Given the description of an element on the screen output the (x, y) to click on. 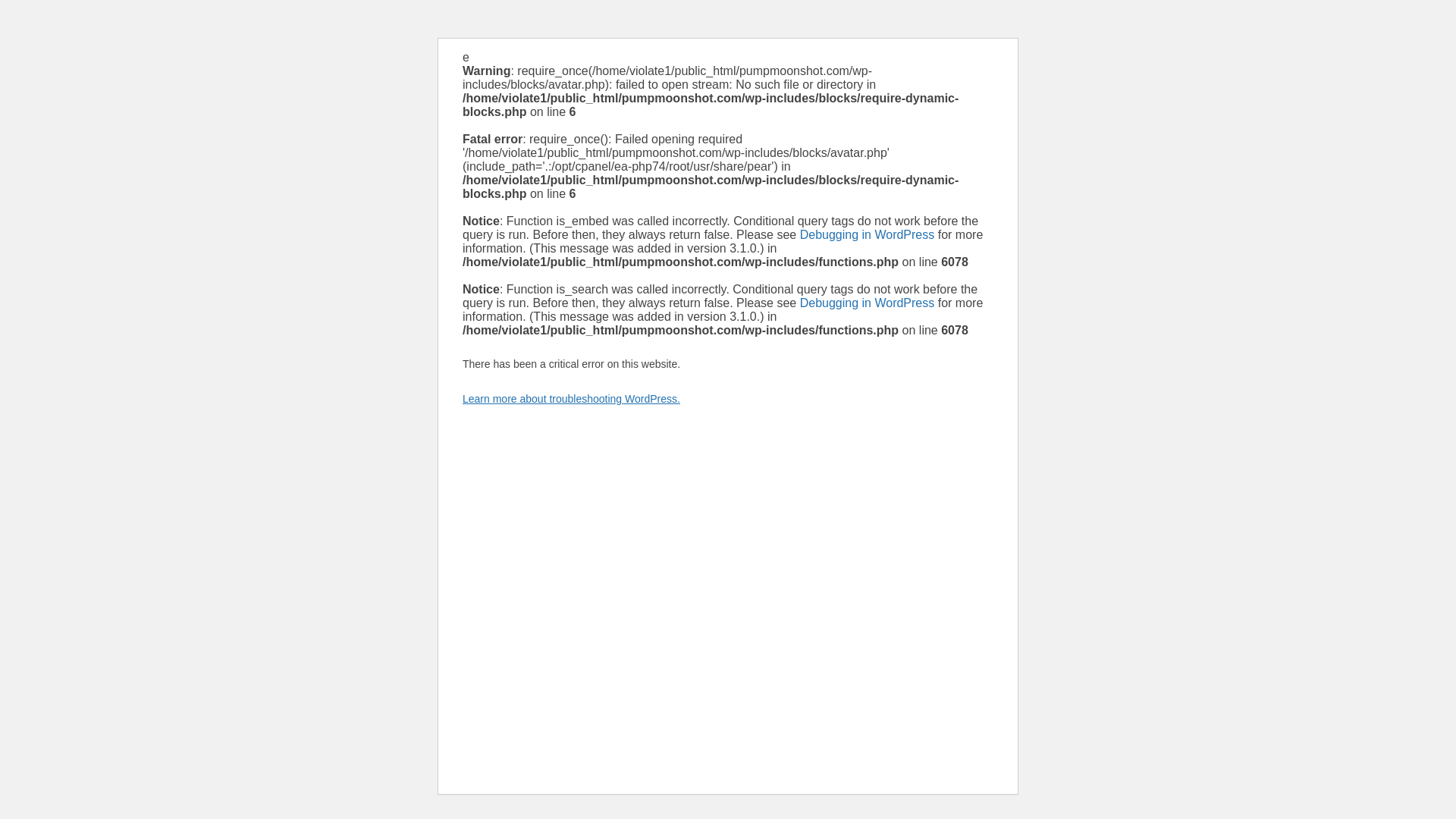
Debugging in WordPress (866, 234)
Debugging in WordPress (866, 302)
Learn more about troubleshooting WordPress. (571, 398)
